Given the description of an element on the screen output the (x, y) to click on. 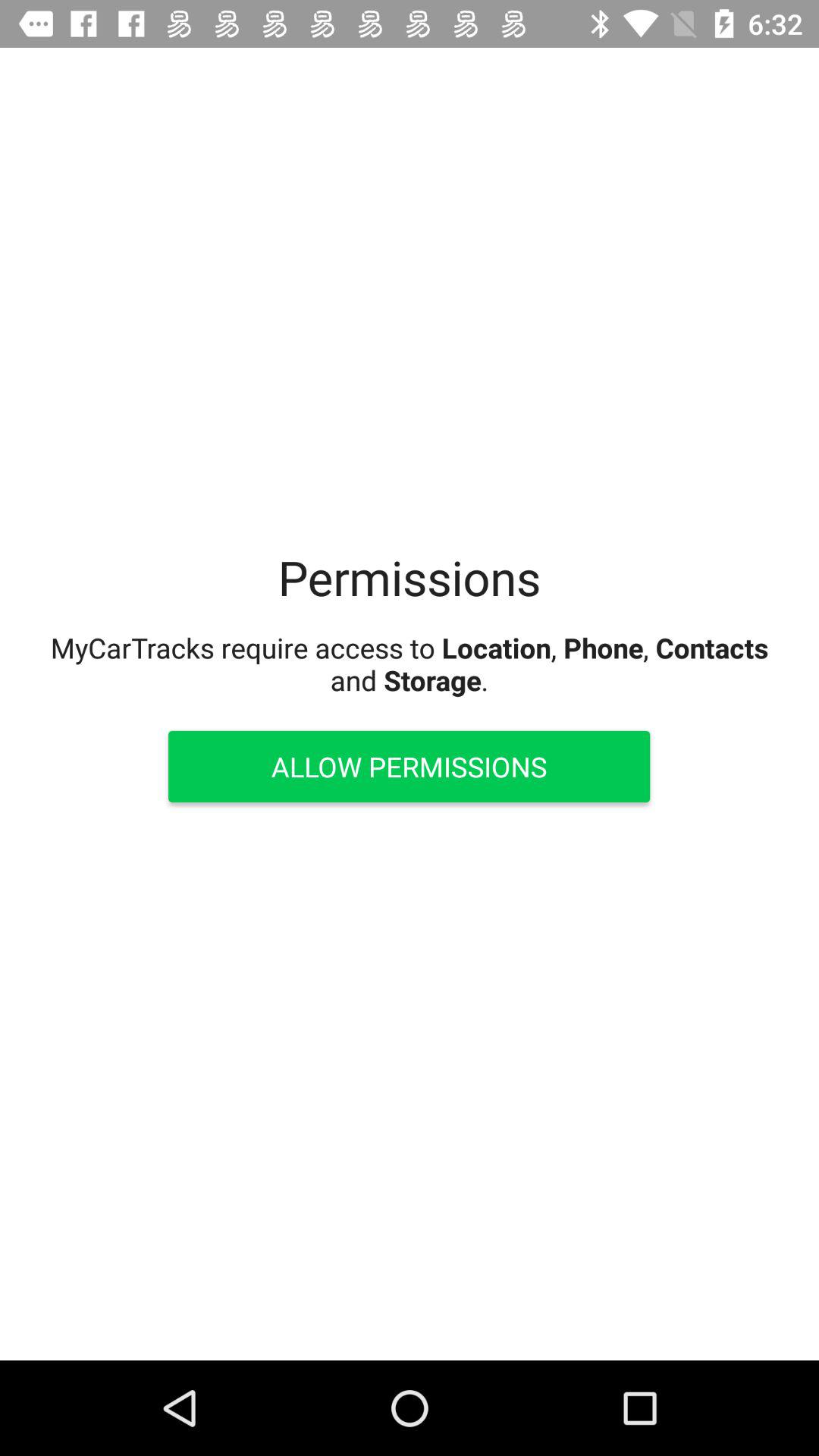
turn on allow permissions item (409, 766)
